Given the description of an element on the screen output the (x, y) to click on. 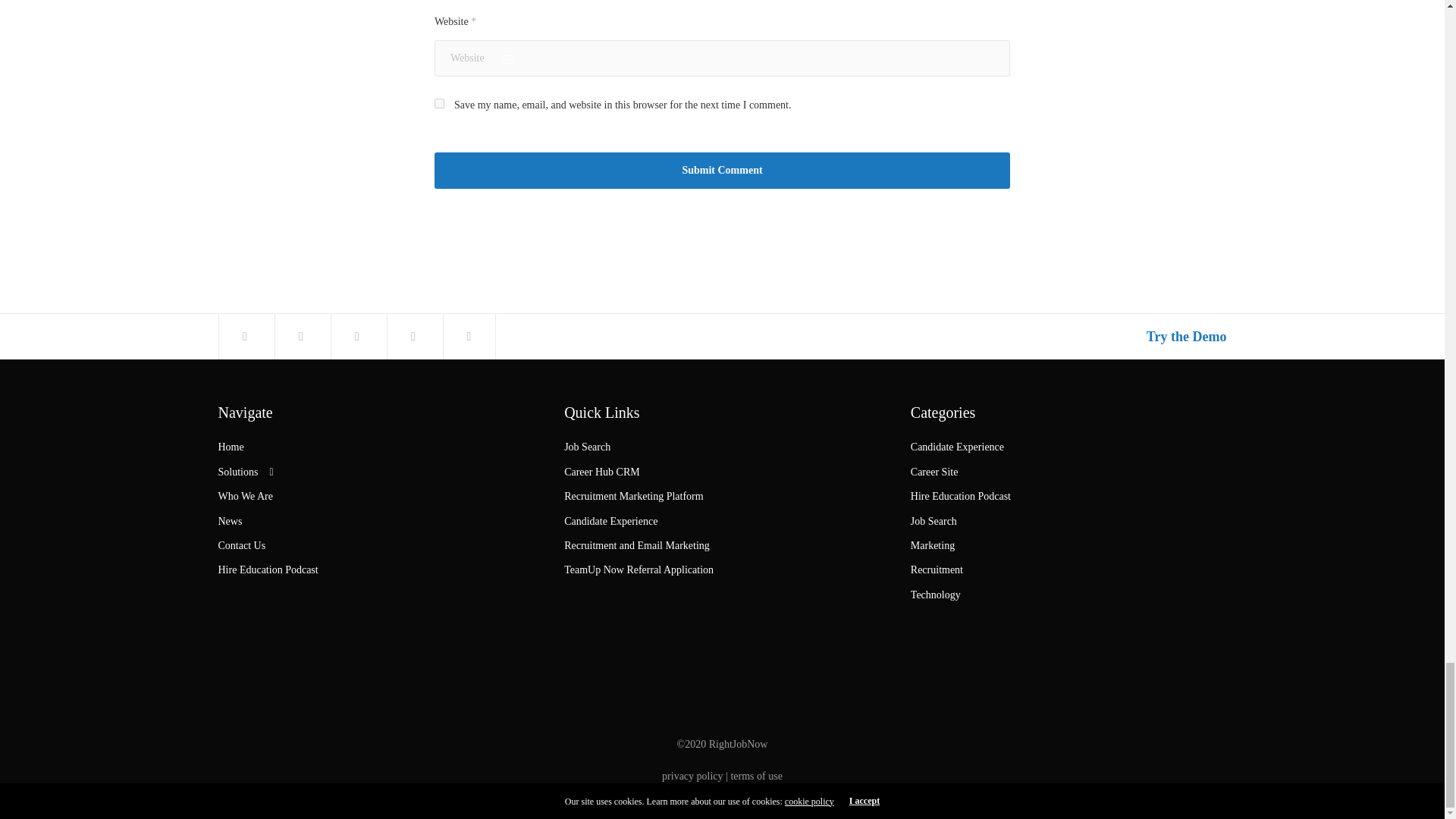
yes (438, 103)
Submit Comment (721, 170)
